Given the description of an element on the screen output the (x, y) to click on. 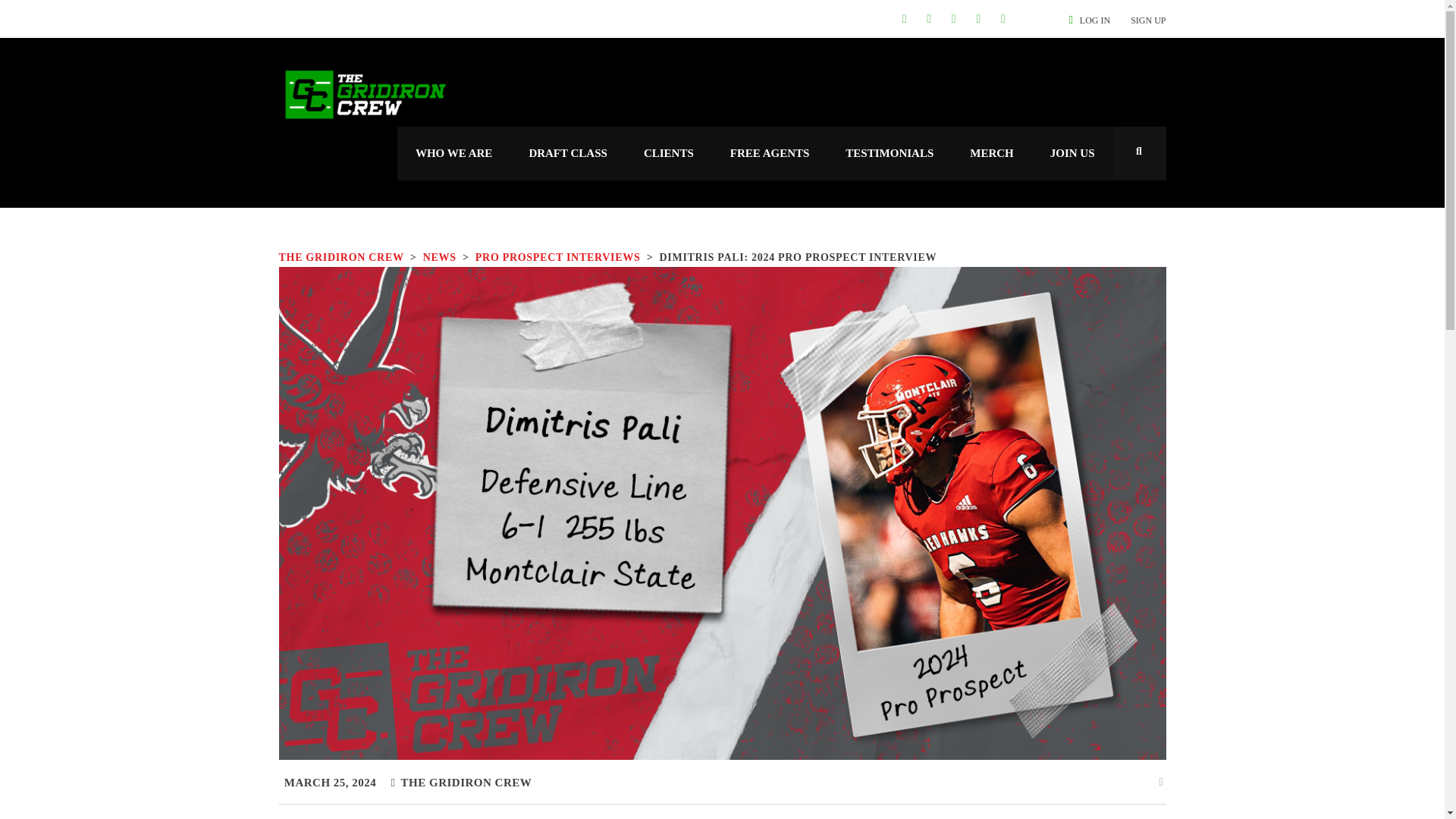
WHO WE ARE (454, 152)
SIGN UP (1148, 20)
DRAFT CLASS (568, 152)
MERCH (992, 152)
Go to the Pro Prospect Interviews Category archives. (558, 256)
LOG IN (1094, 20)
CLIENTS (668, 152)
TESTIMONIALS (889, 152)
Go to News. (440, 256)
Go to The Gridiron Crew. (341, 256)
THE GRIDIRON CREW (341, 256)
JOIN US (1072, 152)
Home (365, 94)
FREE AGENTS (769, 152)
PRO PROSPECT INTERVIEWS (558, 256)
